Given the description of an element on the screen output the (x, y) to click on. 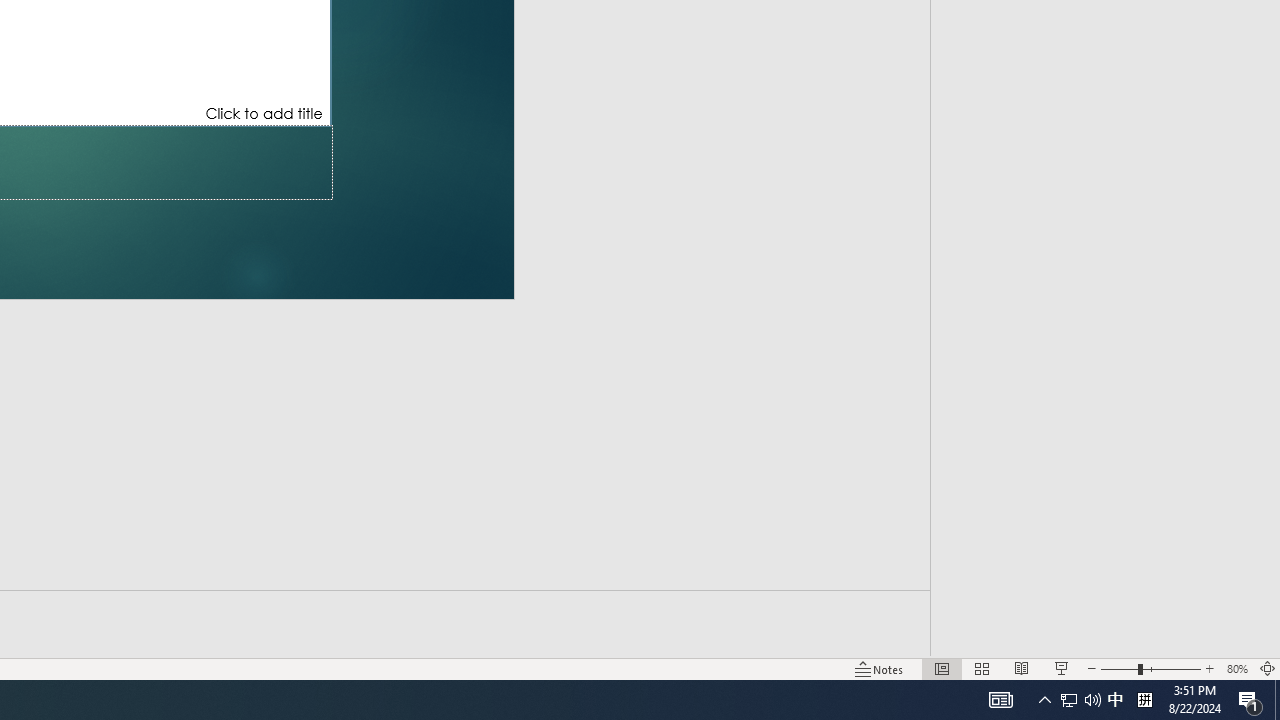
Zoom 80% (1236, 668)
